Given the description of an element on the screen output the (x, y) to click on. 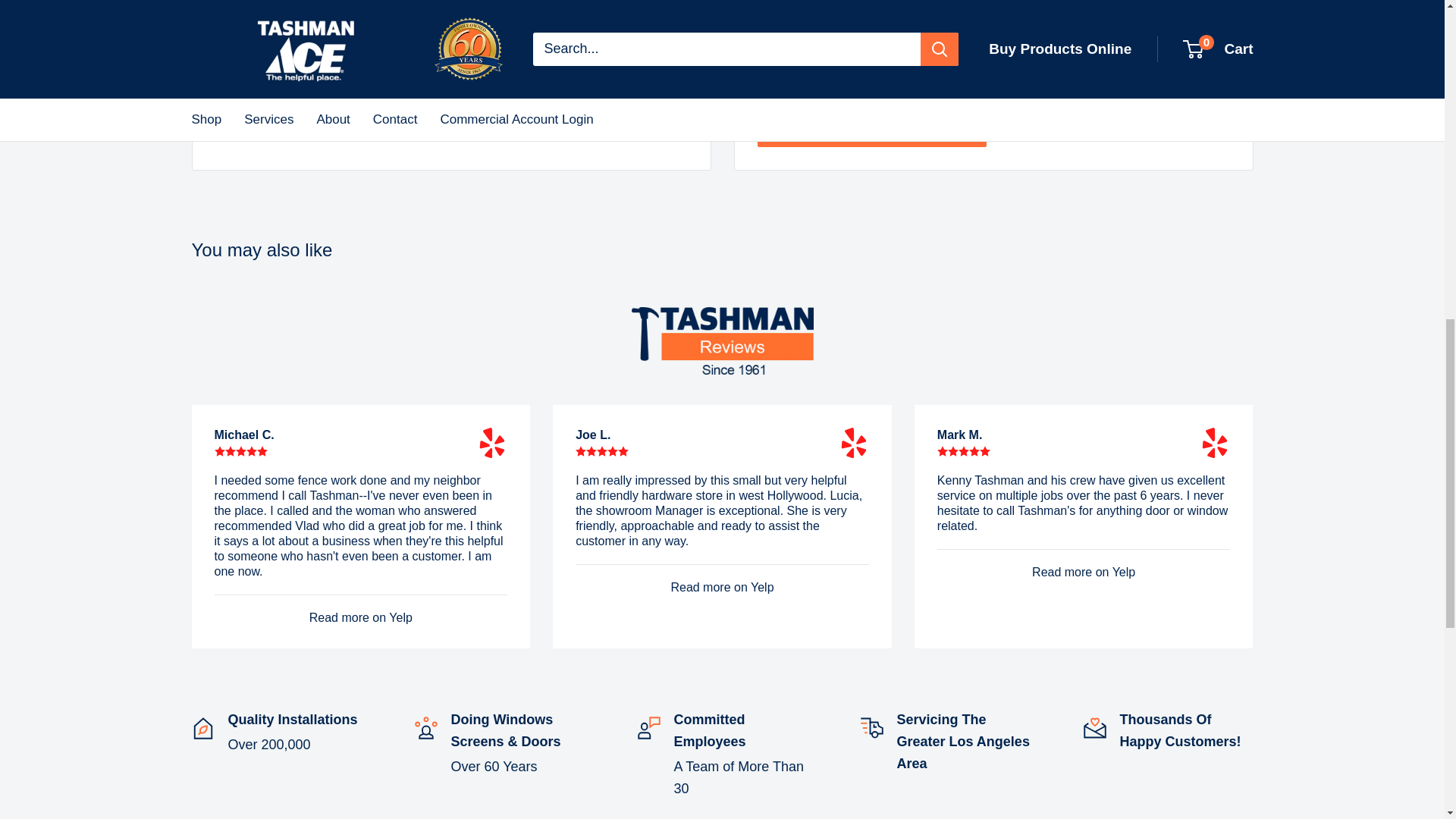
Read more on Yelp (491, 442)
Read more on Yelp (1214, 442)
Read more on Yelp (853, 442)
